Given the description of an element on the screen output the (x, y) to click on. 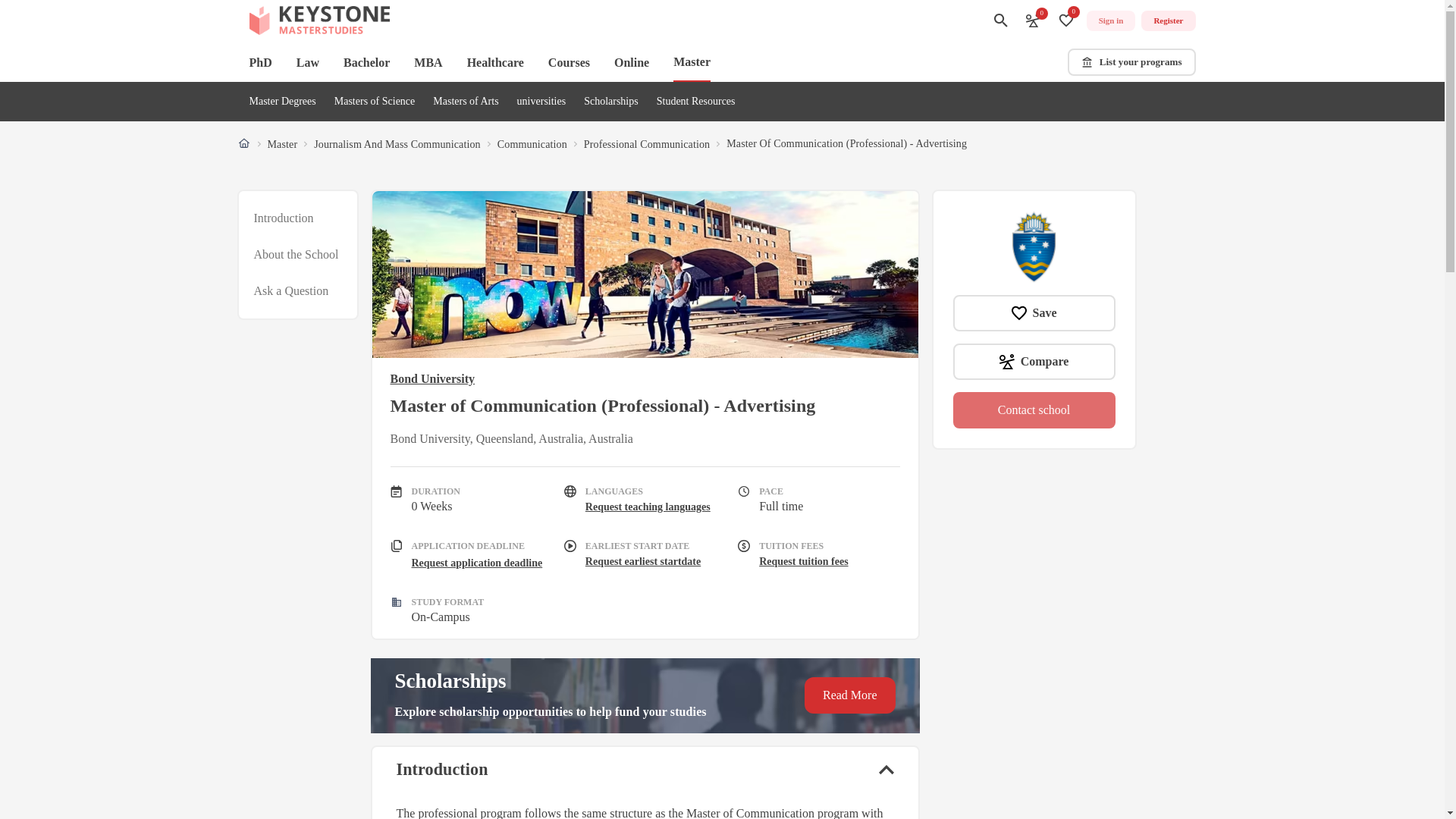
MBA (427, 63)
Masters of Arts (464, 101)
Student Resources (695, 101)
0 (1066, 20)
Healthcare (495, 63)
0 (1032, 20)
Communication (532, 144)
Bachelor (366, 63)
Journalism And Mass Communication (397, 144)
Law (307, 63)
List your programs (1131, 62)
universities (541, 101)
Professional Communication (646, 144)
Sign in (1110, 20)
